Given the description of an element on the screen output the (x, y) to click on. 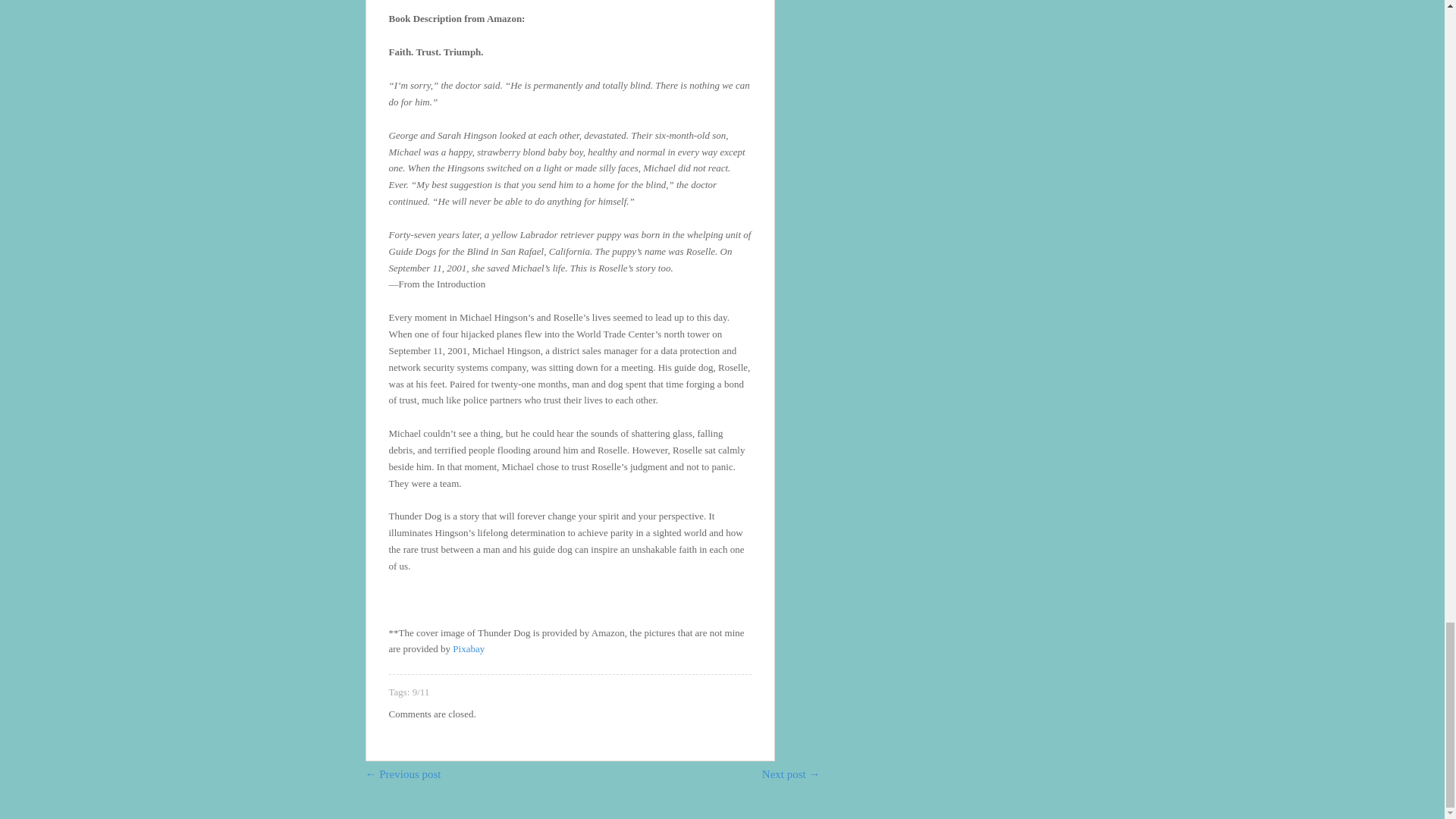
Pixabay (468, 648)
